Given the description of an element on the screen output the (x, y) to click on. 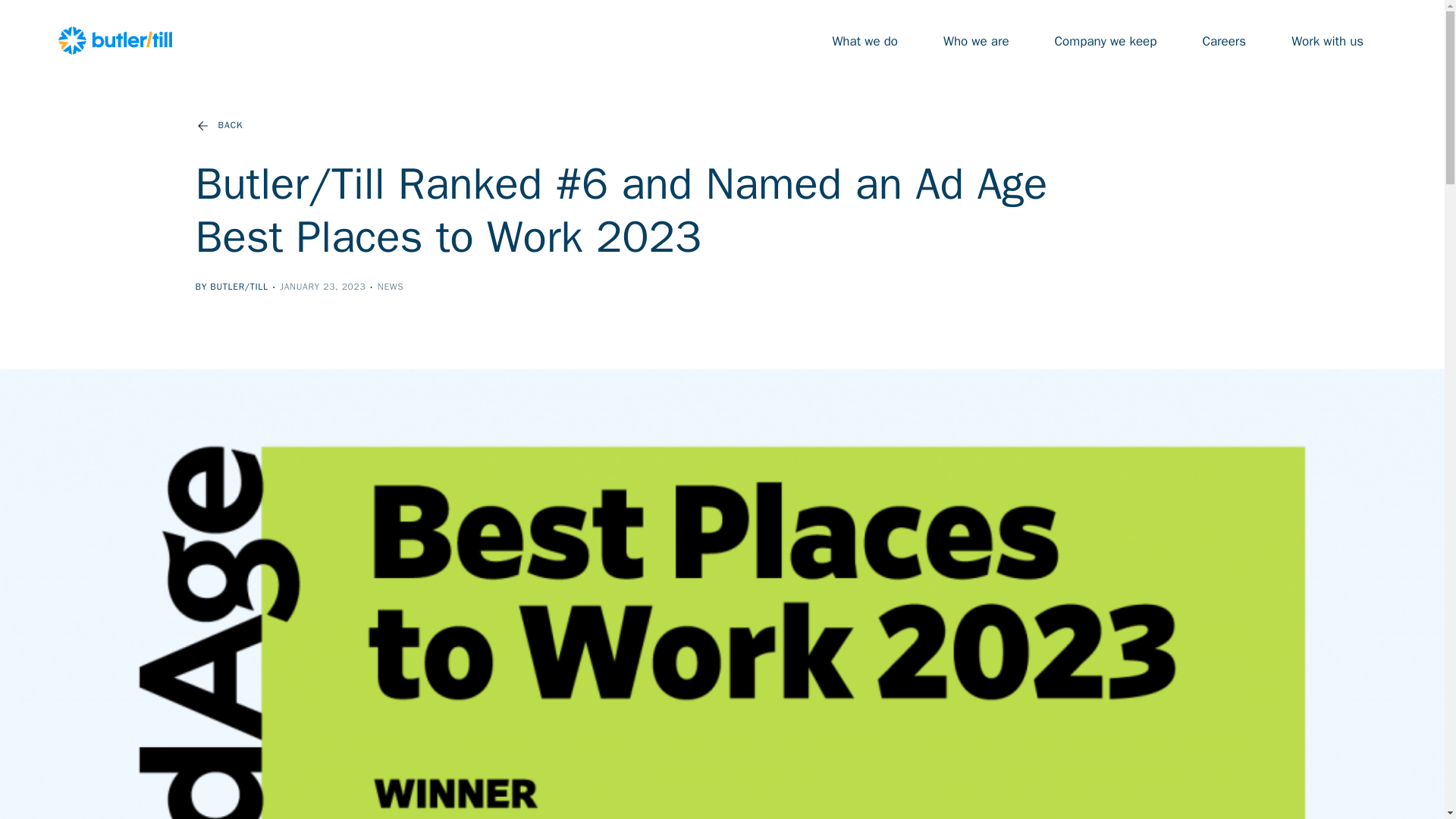
BACK (219, 125)
Work with us (1327, 40)
NEWS (390, 286)
Who we are (976, 40)
Careers (1223, 40)
Company we keep (1105, 40)
What we do (864, 40)
